Given the description of an element on the screen output the (x, y) to click on. 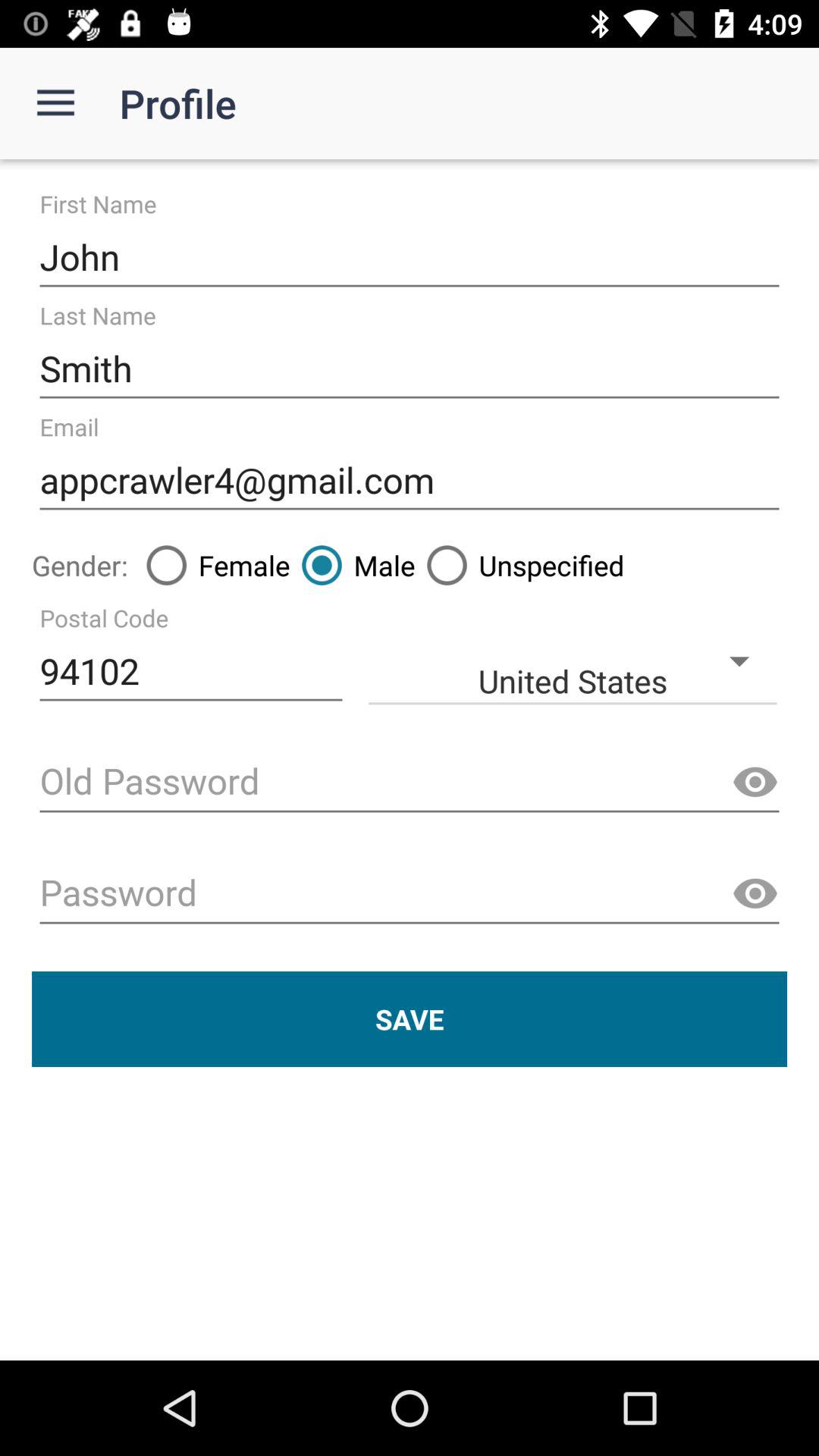
enter password (409, 894)
